Given the description of an element on the screen output the (x, y) to click on. 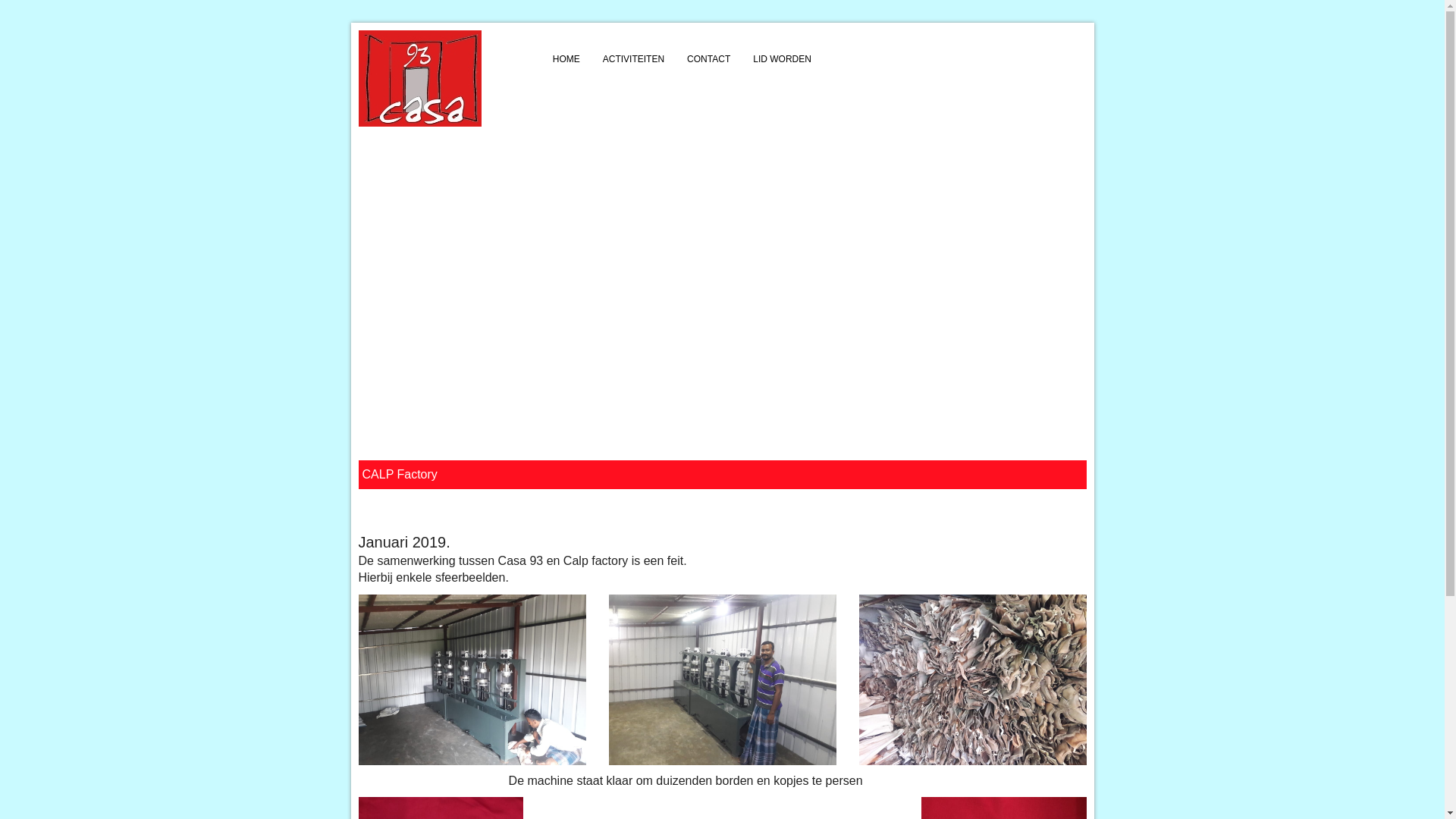
LID WORDEN Element type: text (781, 59)
HOME Element type: text (566, 59)
ACTIVITEITEN Element type: text (633, 59)
CONTACT Element type: text (708, 59)
